Given the description of an element on the screen output the (x, y) to click on. 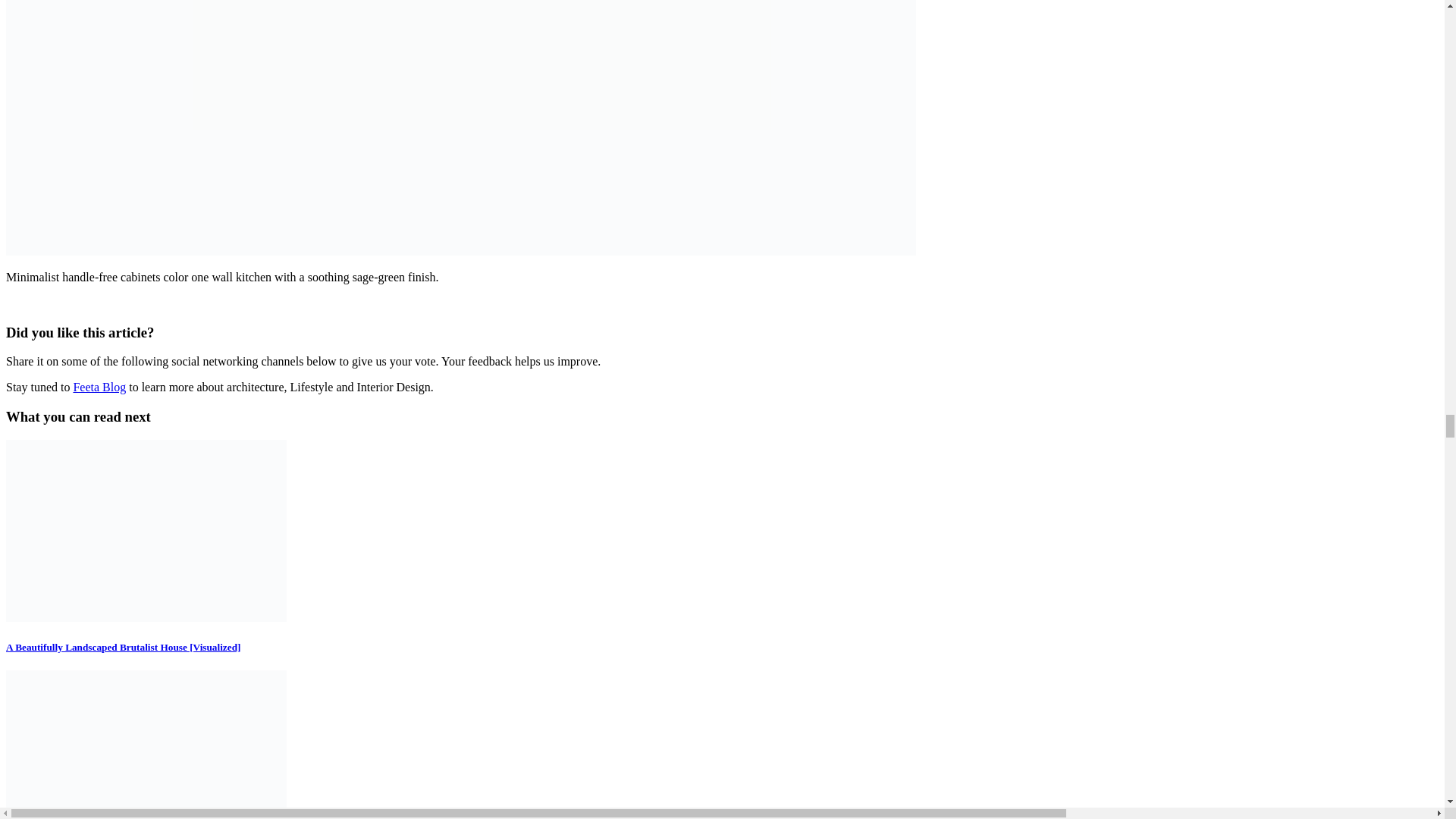
A-Beautifully-Landscaped-Brutalist-House-Visualized (145, 530)
5 Tips To Increase Rental Property And Maximize Income (145, 744)
